Given the description of an element on the screen output the (x, y) to click on. 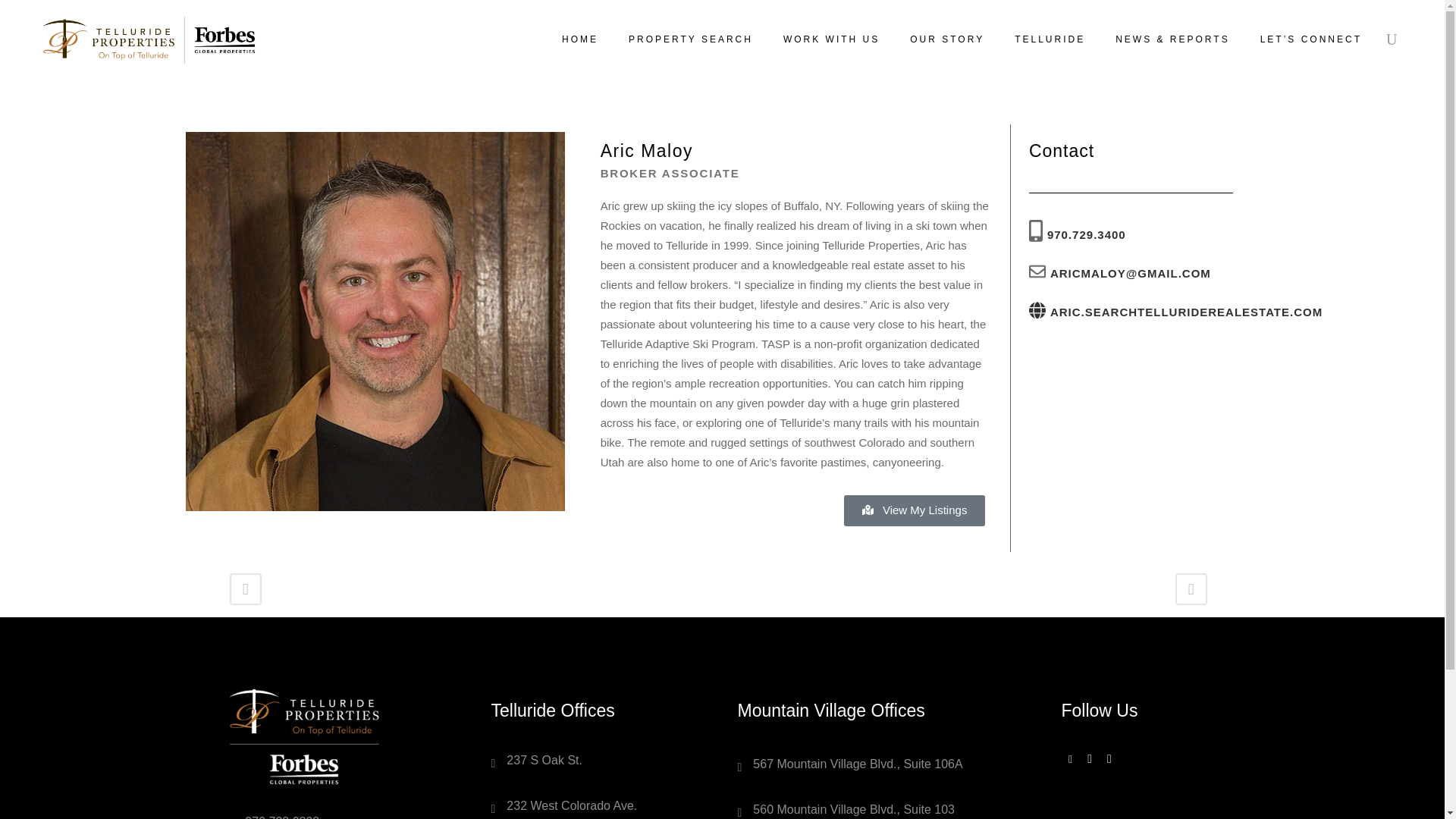
WORK WITH US (831, 39)
OUR STORY (946, 39)
PROPERTY SEARCH (690, 39)
TELLURIDE (1049, 39)
970.729.3400 (1085, 234)
View My Listings (914, 510)
